Given the description of an element on the screen output the (x, y) to click on. 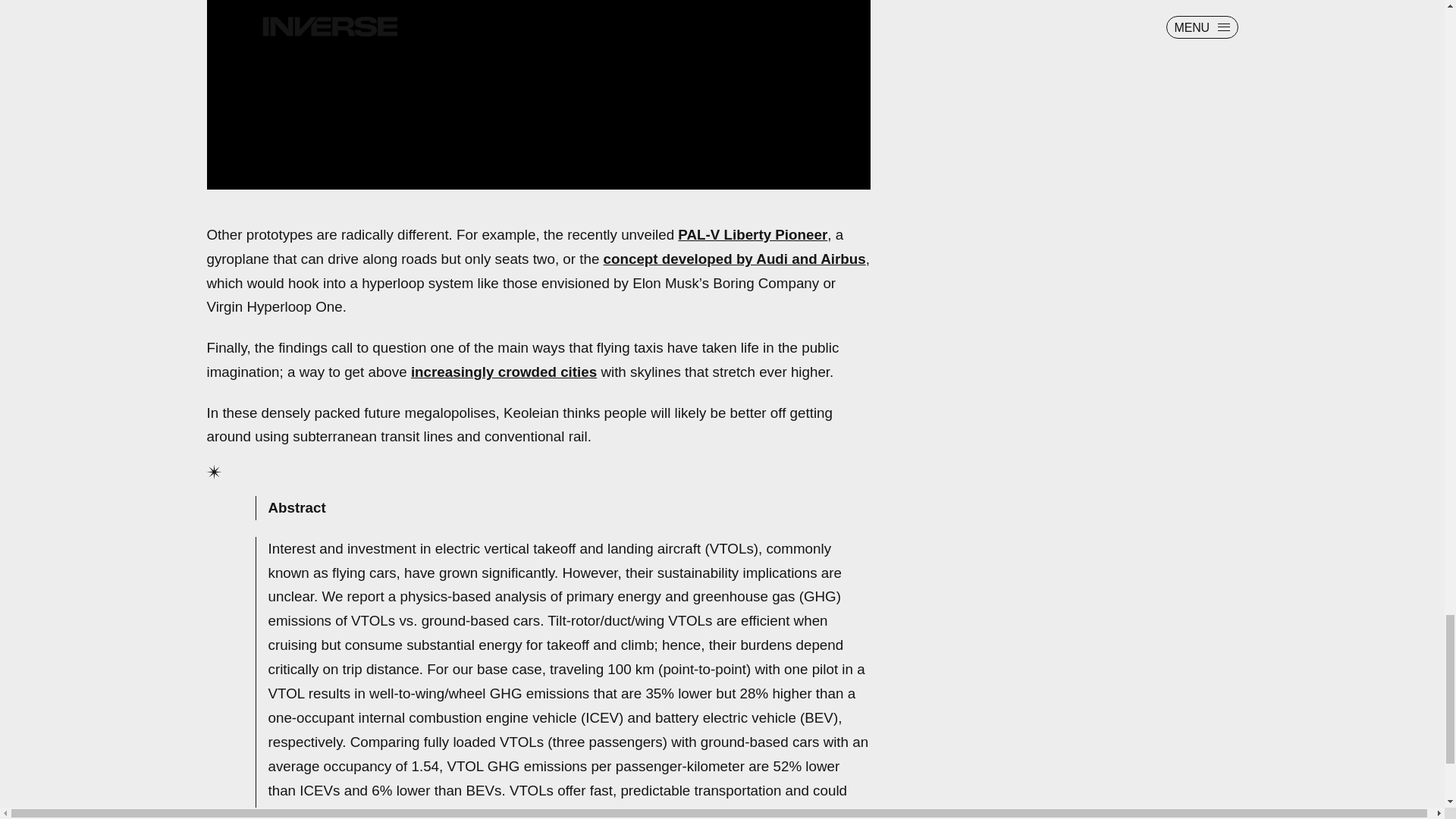
increasingly crowded cities (503, 371)
PAL-V Liberty Pioneer (752, 234)
concept developed by Audi and Airbus (735, 258)
